Given the description of an element on the screen output the (x, y) to click on. 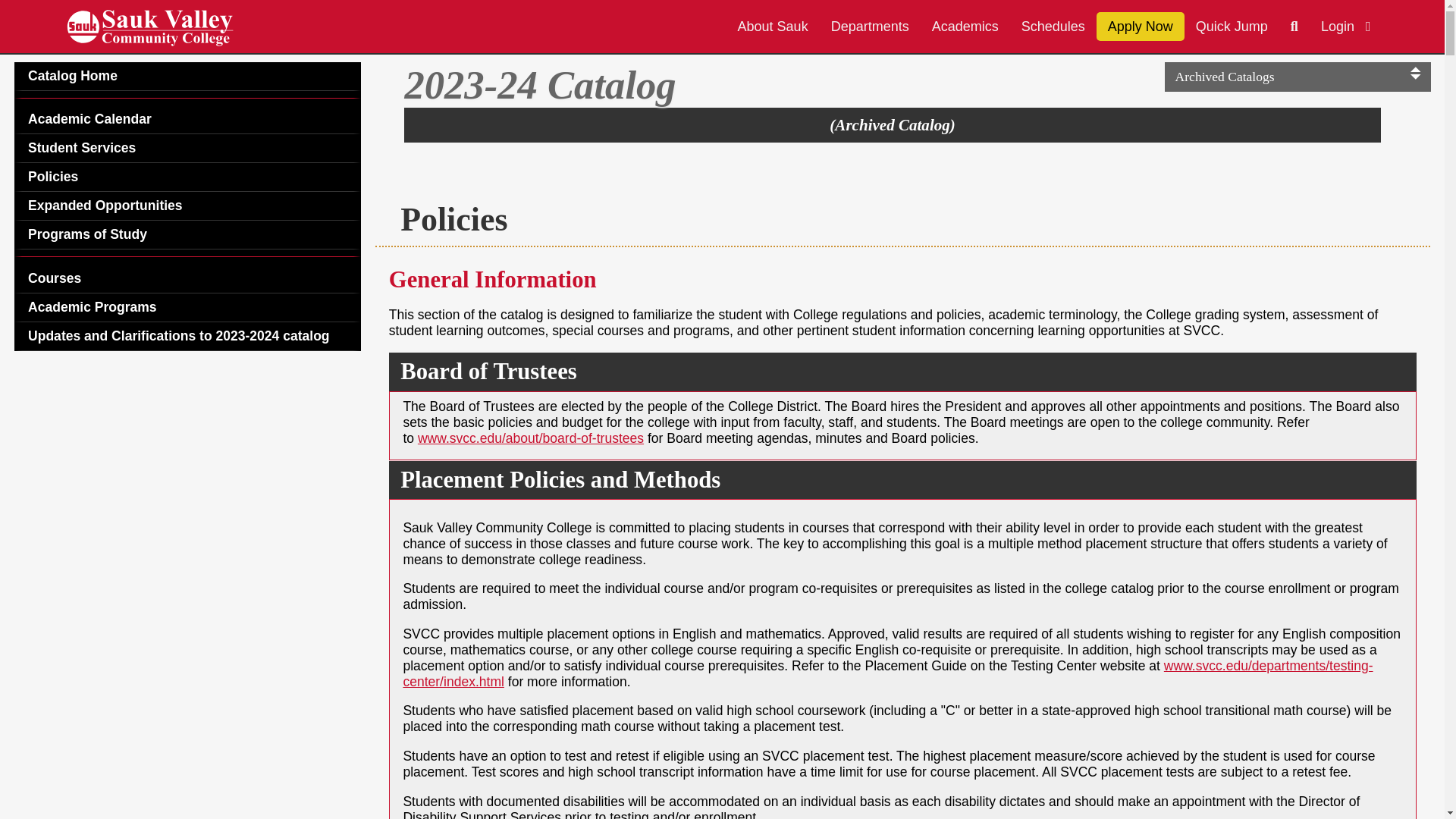
About Sauk (772, 26)
Secondary Navigation (187, 206)
Departments (869, 26)
